Given the description of an element on the screen output the (x, y) to click on. 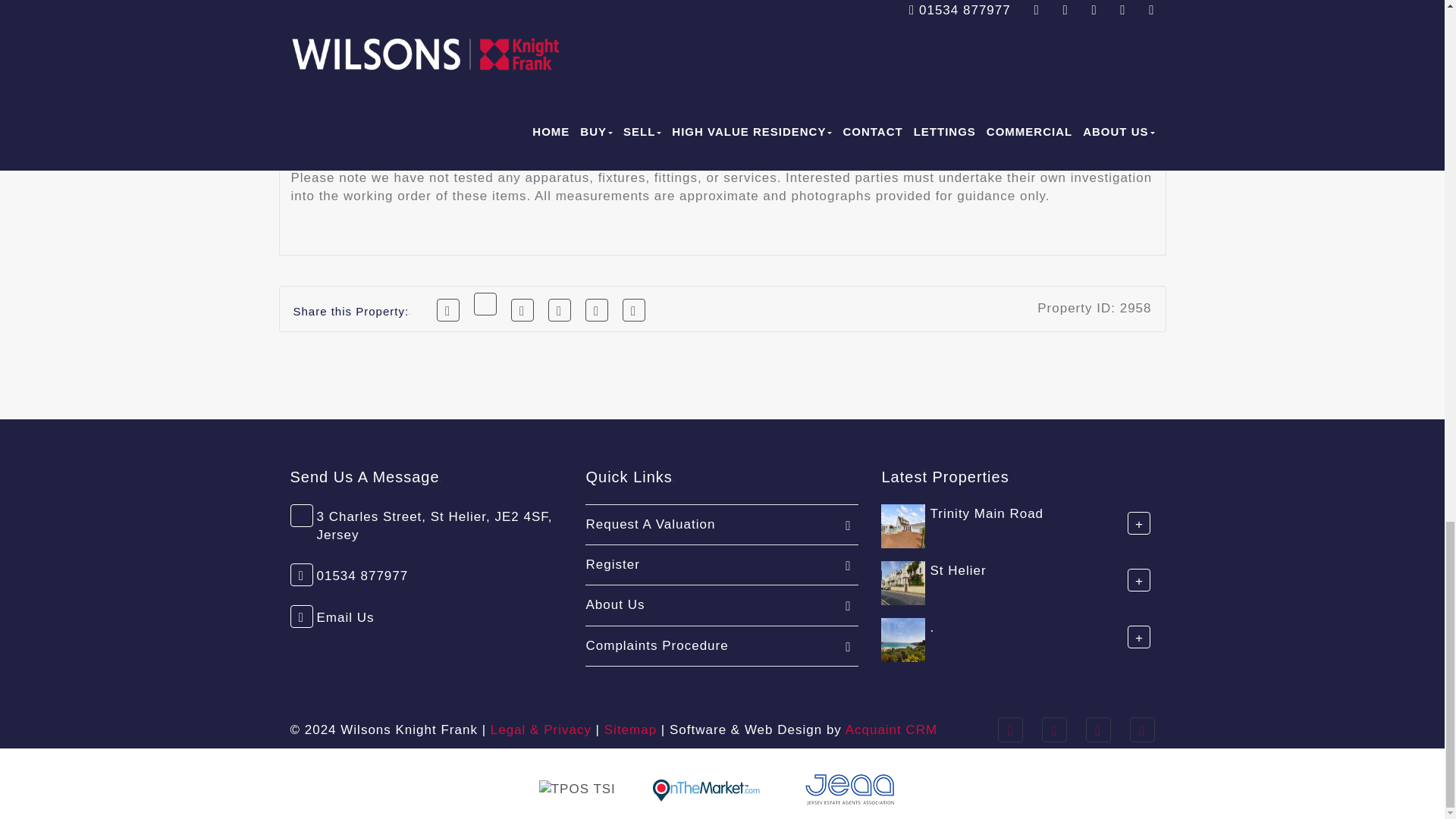
Property For Sale Trinity Main Road, St Helier (902, 524)
Twitter (485, 303)
Property For Sale Green Street, St Helier (902, 581)
SMS (596, 309)
Facebook (448, 309)
Pinterest (522, 309)
Email (634, 309)
WhatsApp (559, 309)
